Given the description of an element on the screen output the (x, y) to click on. 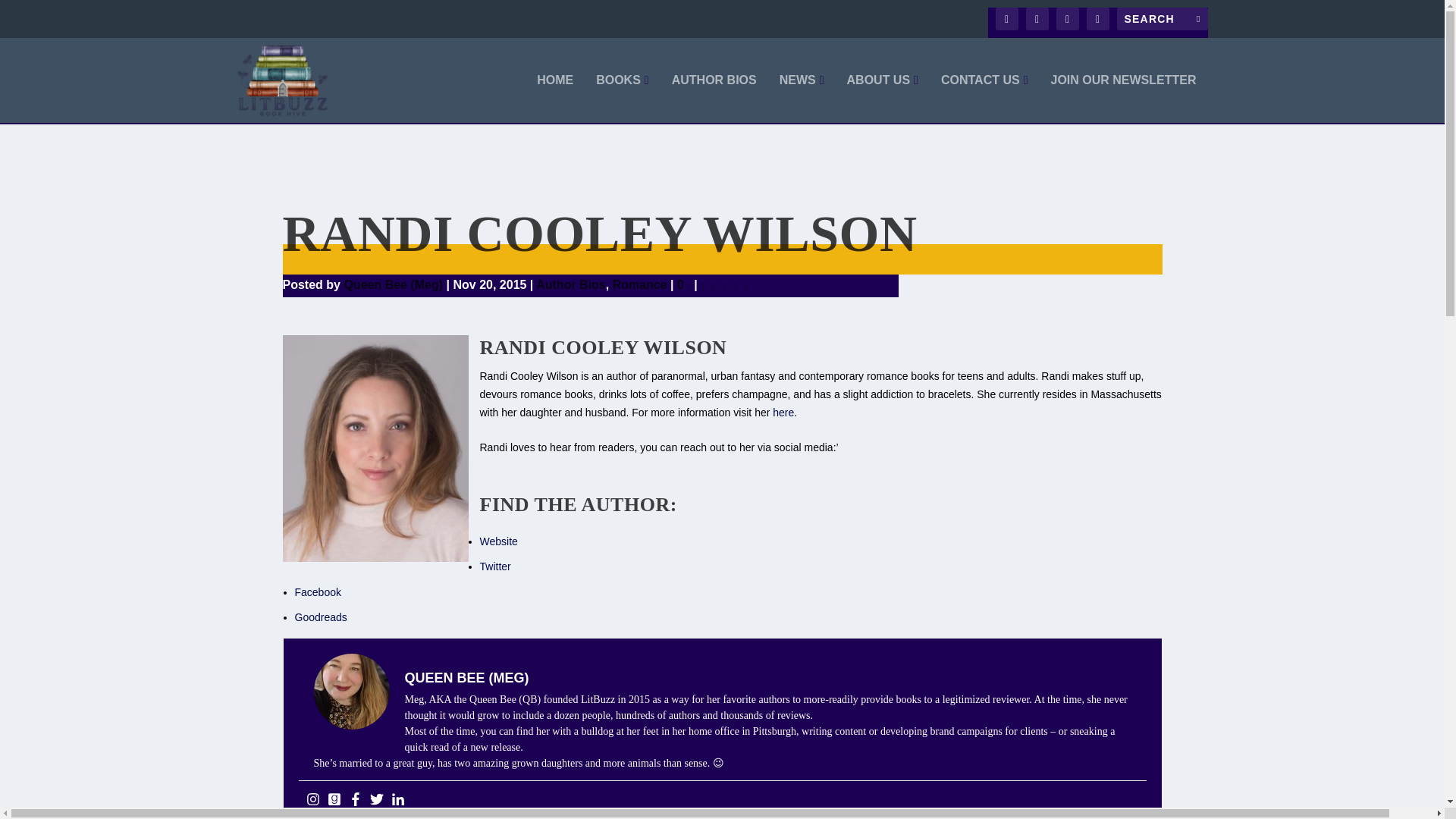
Search for: (1161, 18)
NEWS (801, 98)
CONTACT US (983, 98)
BOOKS (622, 98)
AUTHOR BIOS (714, 98)
Rating: 0.00 (726, 285)
JOIN OUR NEWSLETTER (1122, 98)
ABOUT US (882, 98)
